Given the description of an element on the screen output the (x, y) to click on. 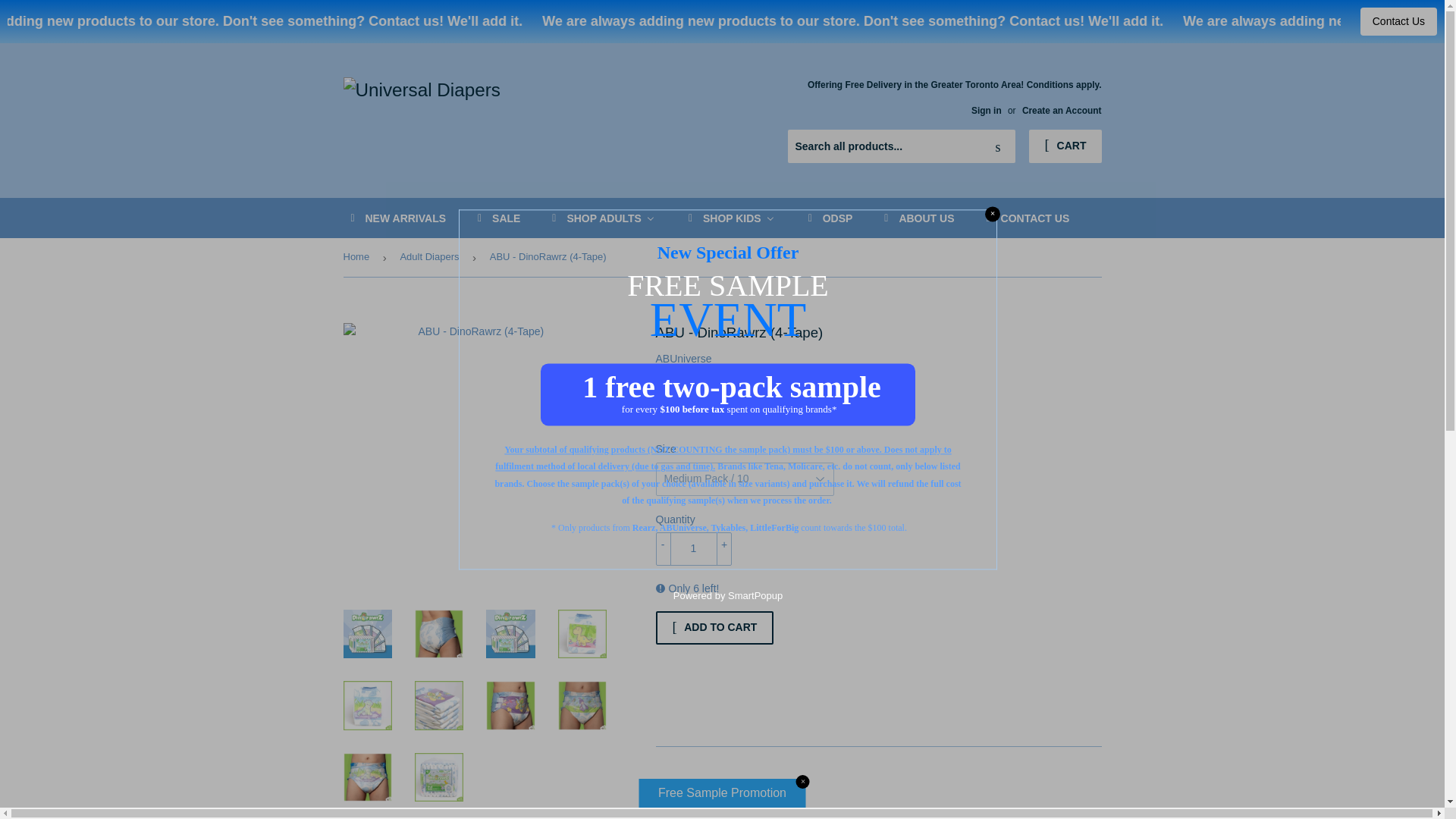
1 (692, 548)
CART (1064, 145)
Contact Us (1398, 21)
Search (997, 146)
Sign in (986, 110)
Create an Account (1062, 110)
